Given the description of an element on the screen output the (x, y) to click on. 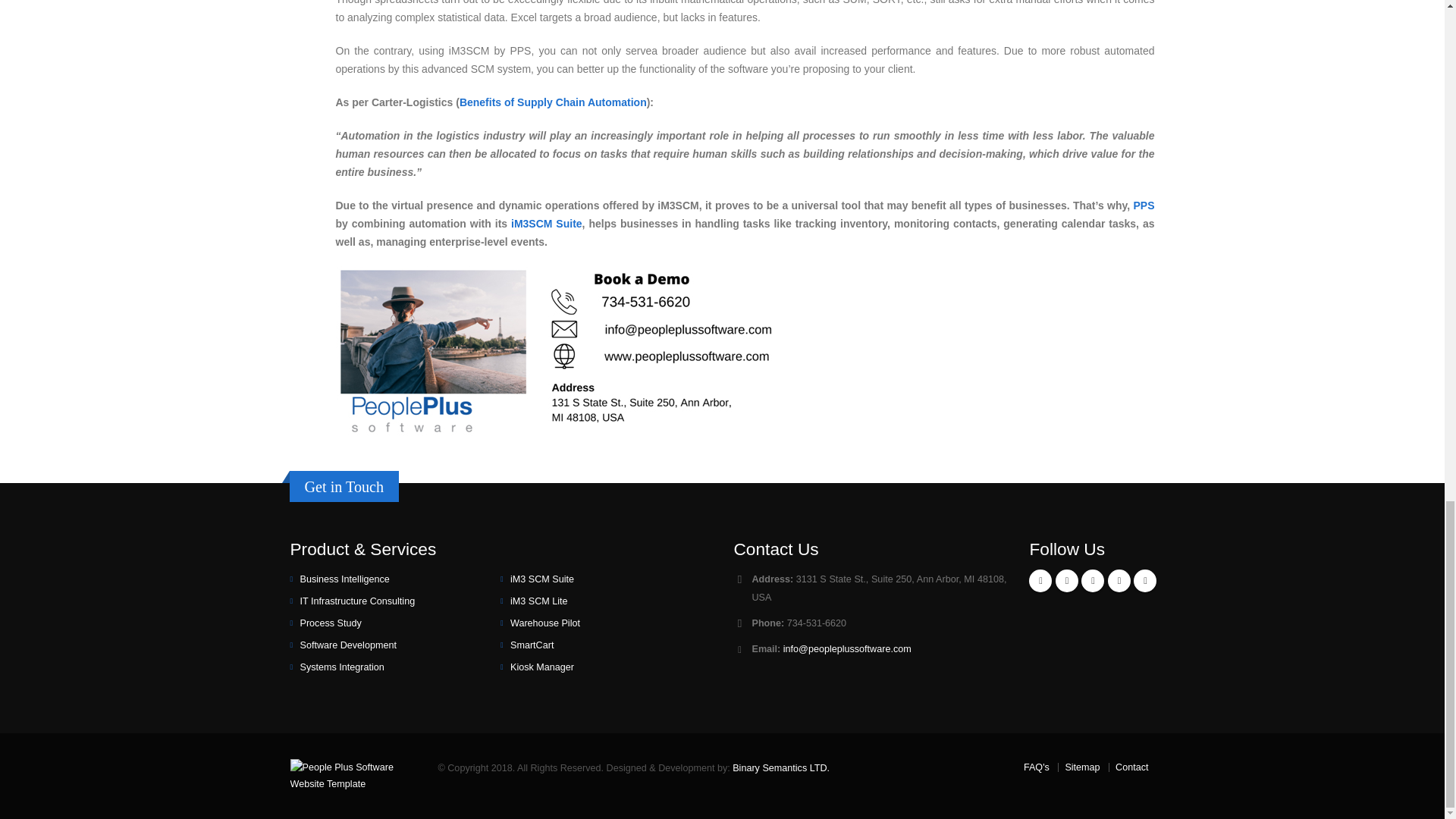
Pinterest (1145, 580)
Facebook (1040, 580)
Twitter (1066, 580)
Linkedin (1092, 580)
Youtube (1119, 580)
